Given the description of an element on the screen output the (x, y) to click on. 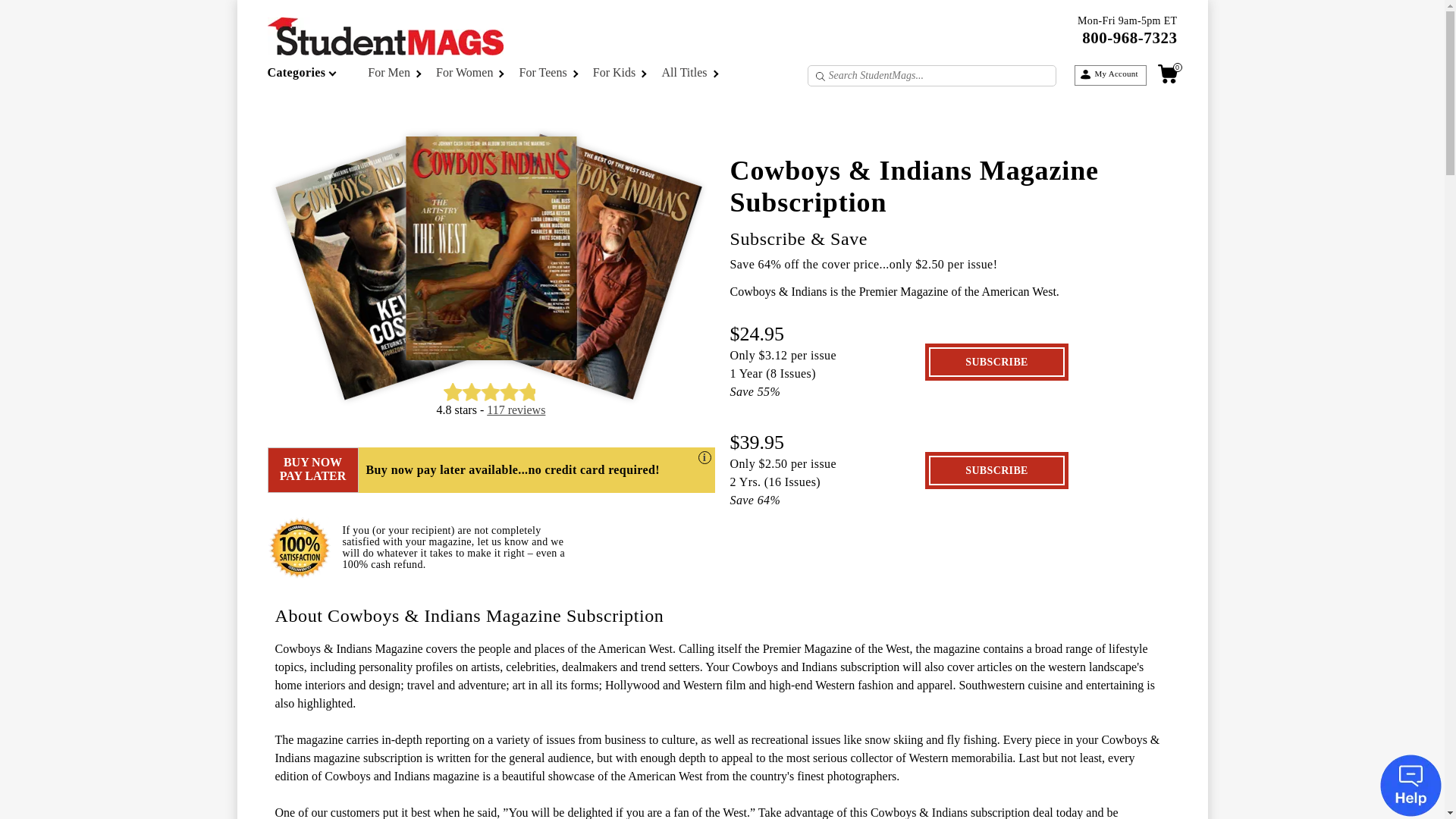
Categories (312, 75)
800-968-7323 (1128, 37)
StudentMags (432, 43)
Subscribe (996, 470)
Subscribe (996, 361)
